Given the description of an element on the screen output the (x, y) to click on. 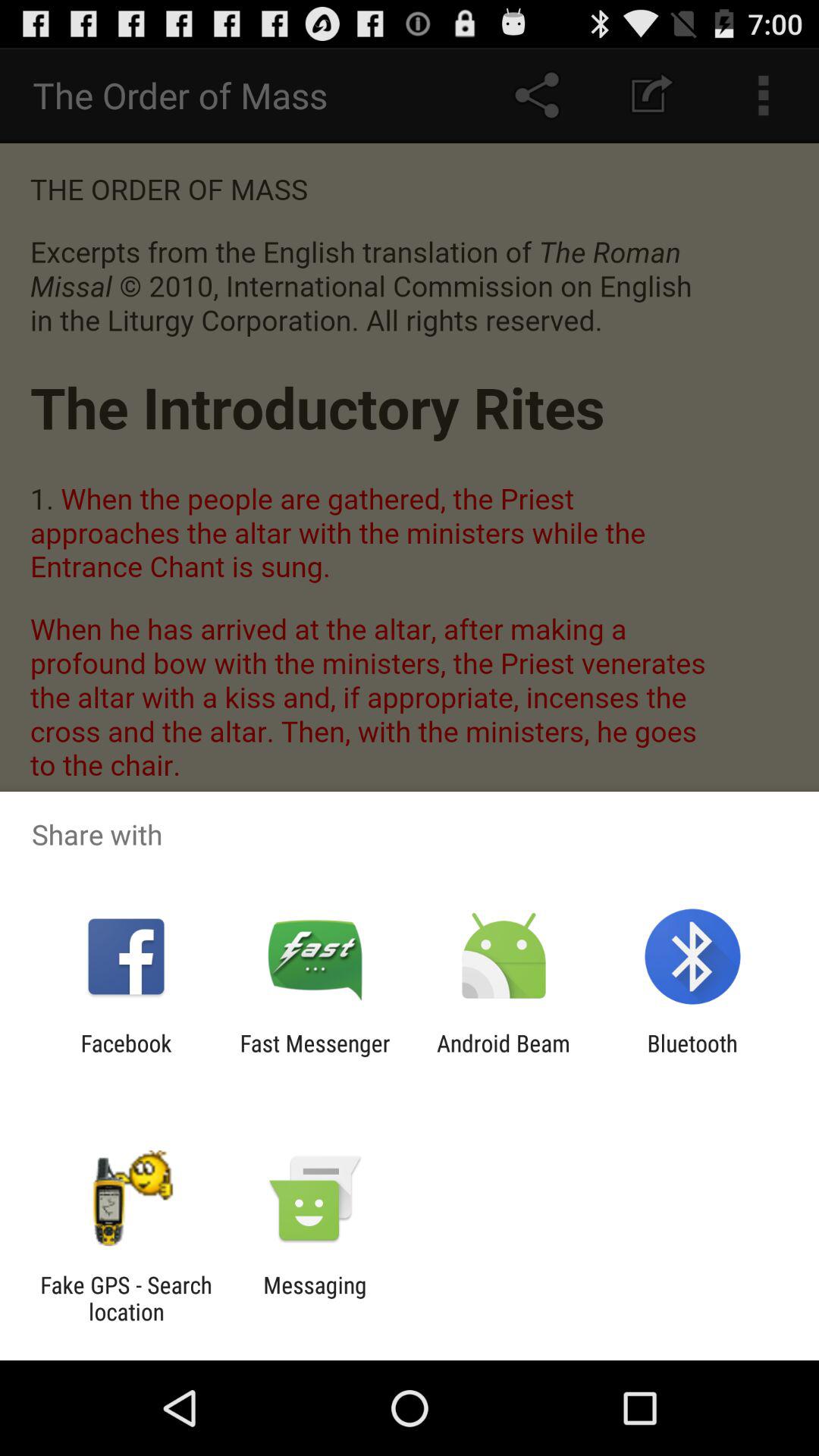
select item next to the fast messenger app (125, 1056)
